Given the description of an element on the screen output the (x, y) to click on. 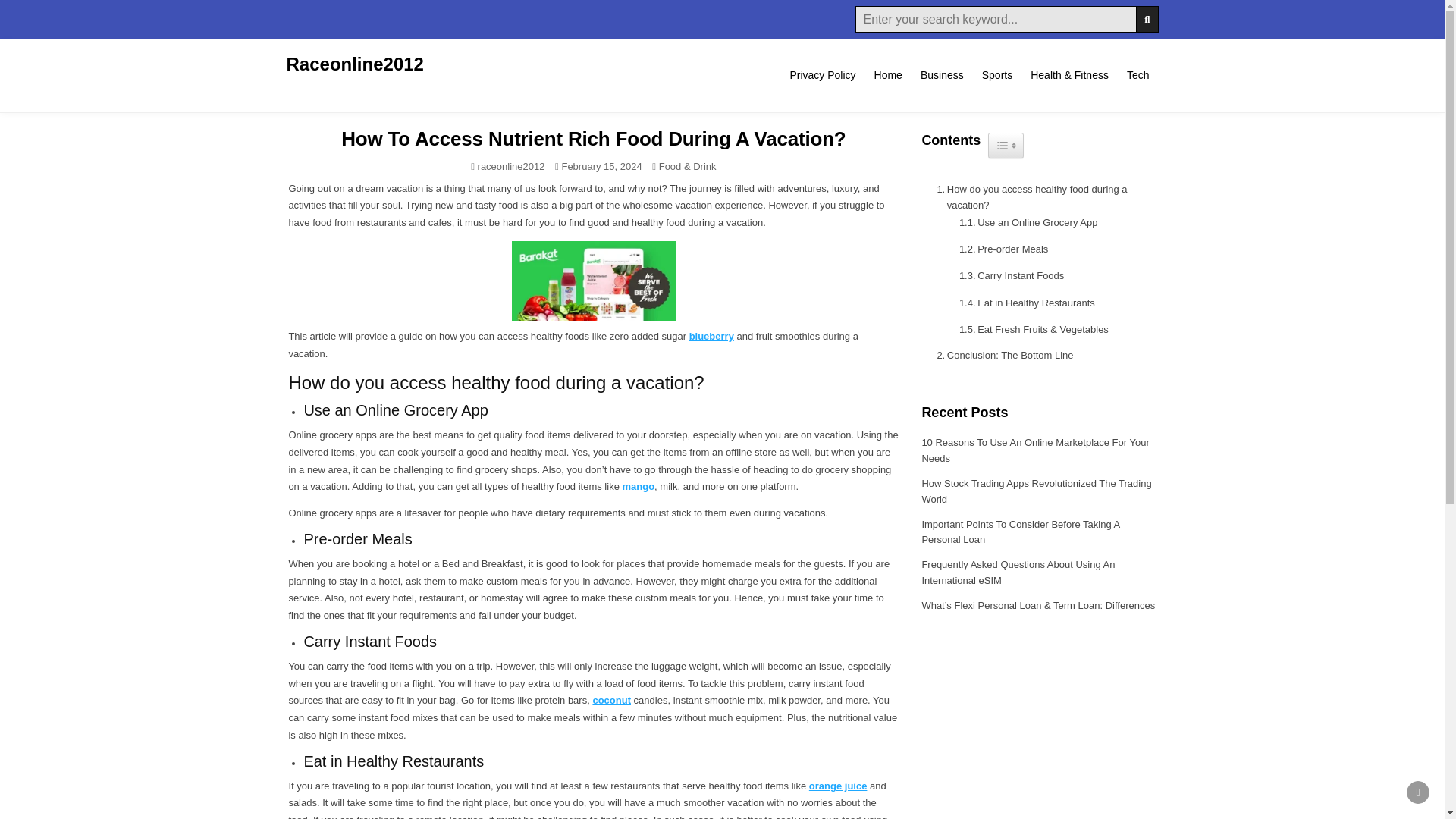
Use an Online Grocery App (1024, 221)
Pre-order Meals (1000, 248)
Privacy Policy (822, 74)
How Stock Trading Apps Revolutionized The Trading World (1036, 491)
Eat in Healthy Restaurants (1023, 303)
Raceonline2012 (354, 64)
Carry Instant Foods (1008, 275)
Eat in Healthy Restaurants (1023, 303)
Business (941, 74)
Tech (1138, 74)
